Given the description of an element on the screen output the (x, y) to click on. 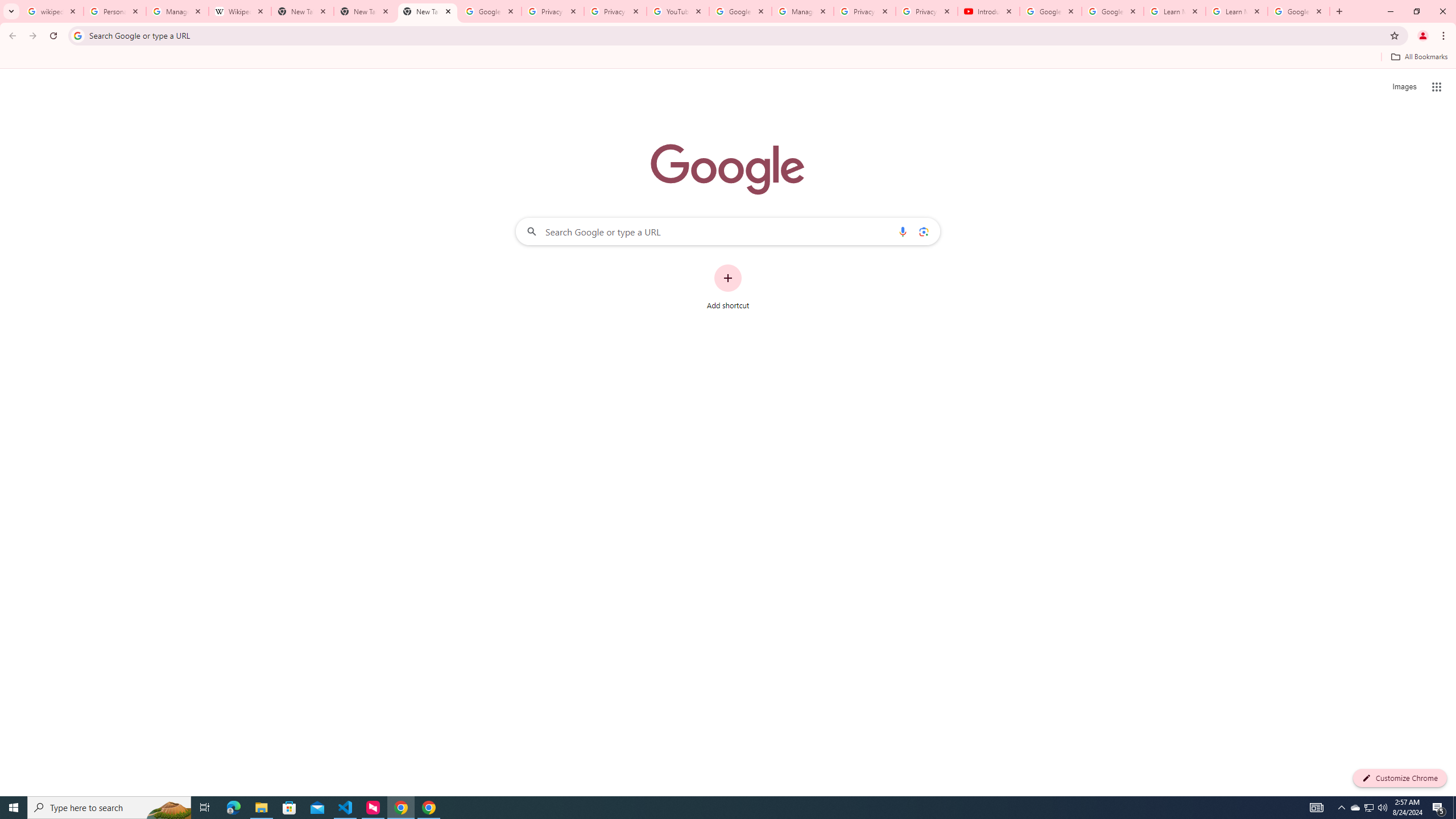
Wikipedia:Edit requests - Wikipedia (239, 11)
All Bookmarks (1418, 56)
Search icon (77, 35)
Bookmarks (728, 58)
Search by image (922, 230)
Introduction | Google Privacy Policy - YouTube (988, 11)
Google apps (1436, 86)
